Given the description of an element on the screen output the (x, y) to click on. 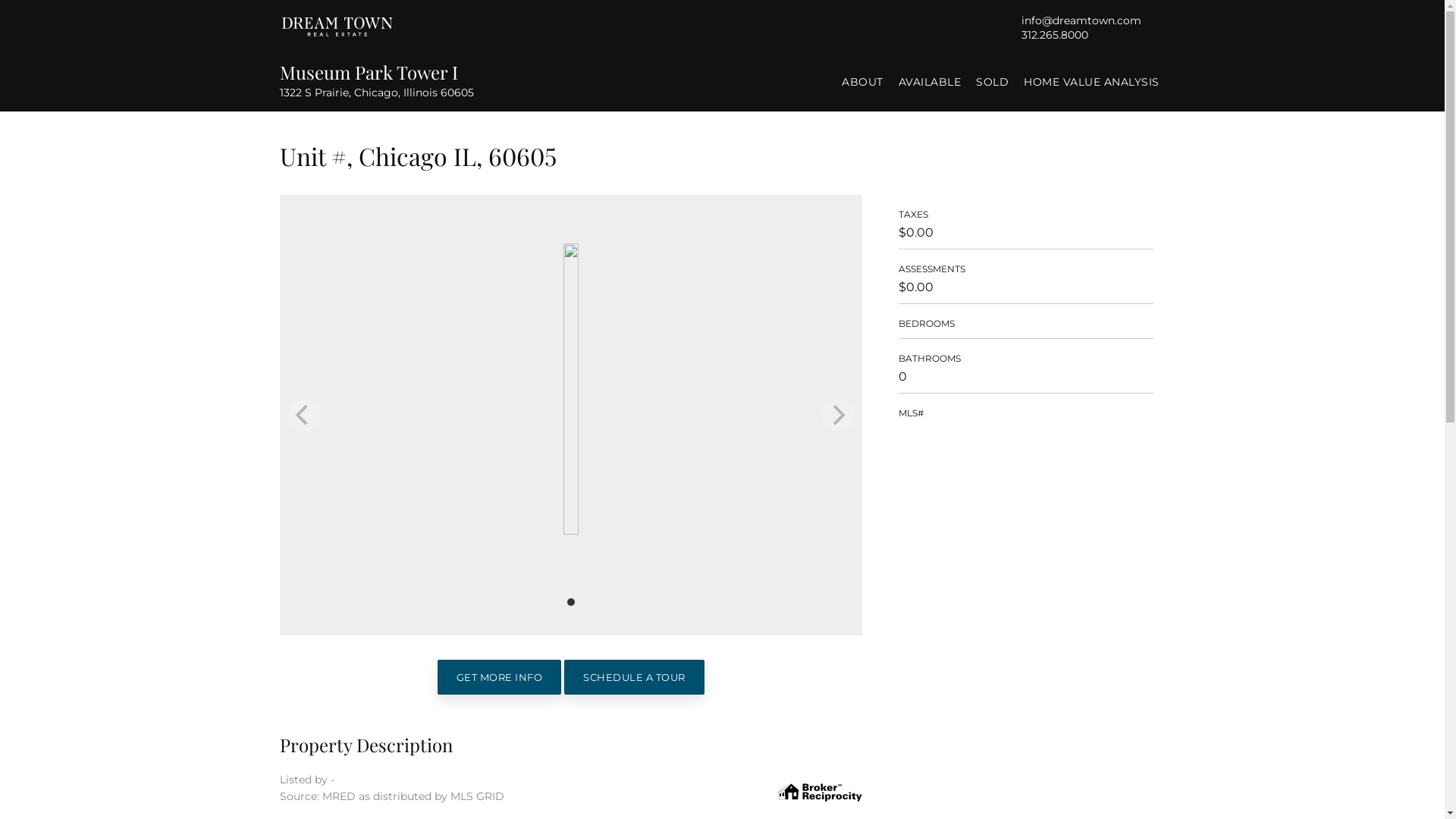
SOLD Element type: text (991, 81)
Museum Park Tower I
1322 S Prairie, Chicago, Illinois 60605 Element type: text (418, 80)
AVAILABLE Element type: text (928, 81)
ABOUT Element type: text (862, 81)
info@dreamtown.com Element type: text (1080, 20)
312.265.8000 Element type: text (1053, 33)
SCHEDULE A TOUR Element type: text (634, 676)
GET MORE INFO Element type: text (498, 676)
HOME VALUE ANALYSIS Element type: text (1091, 81)
